Given the description of an element on the screen output the (x, y) to click on. 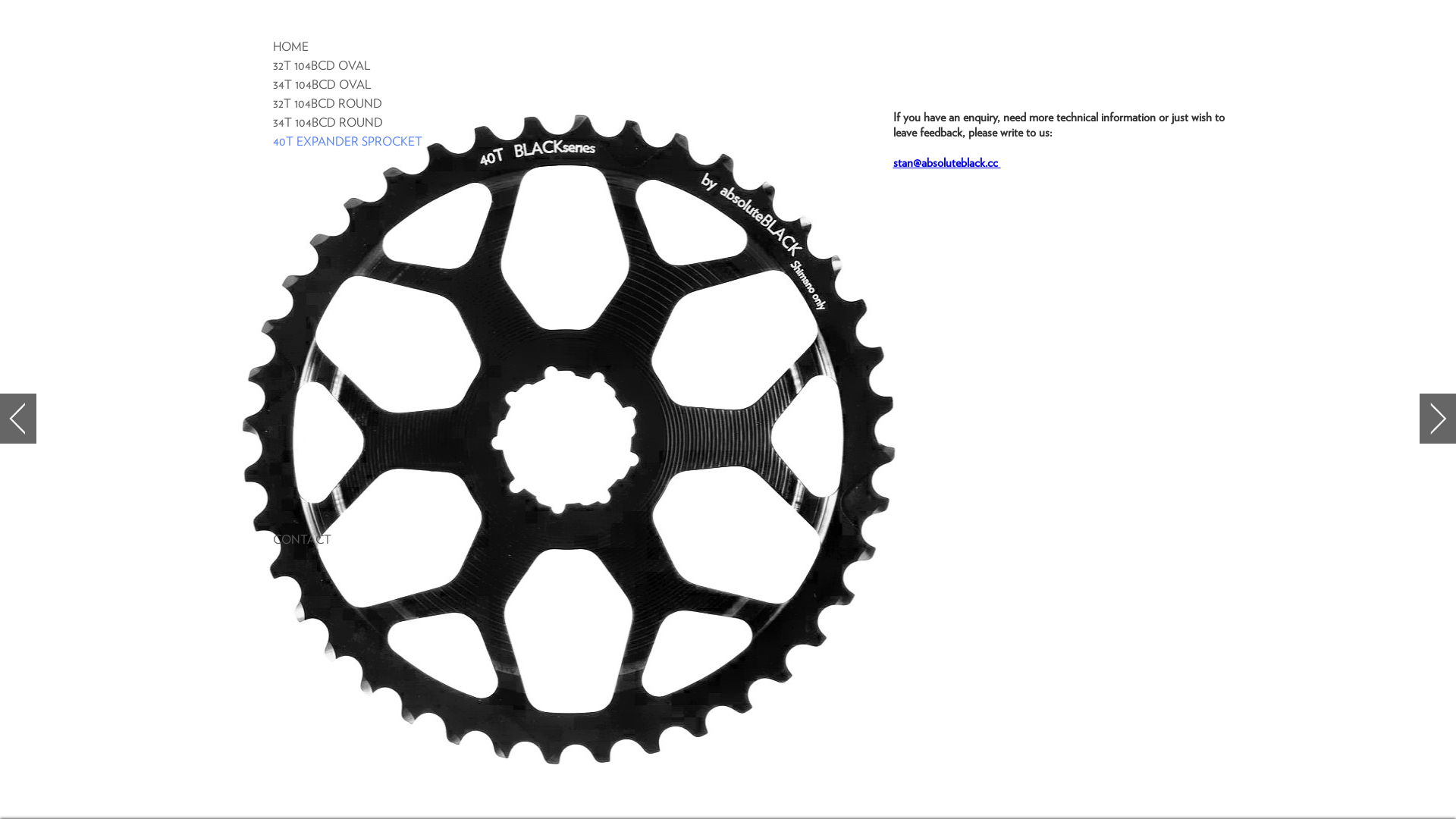
40T EXPANDER SPROCKET Element type: text (347, 141)
34T 104BCD ROUND Element type: text (327, 122)
HOME Element type: text (290, 46)
CONTACT Element type: text (302, 539)
stan@absoluteblack.cc Element type: text (947, 162)
34T 104BCD OVAL Element type: text (321, 84)
32T 104BCD OVAL Element type: text (321, 65)
32T 104BCD ROUND Element type: text (327, 103)
